Given the description of an element on the screen output the (x, y) to click on. 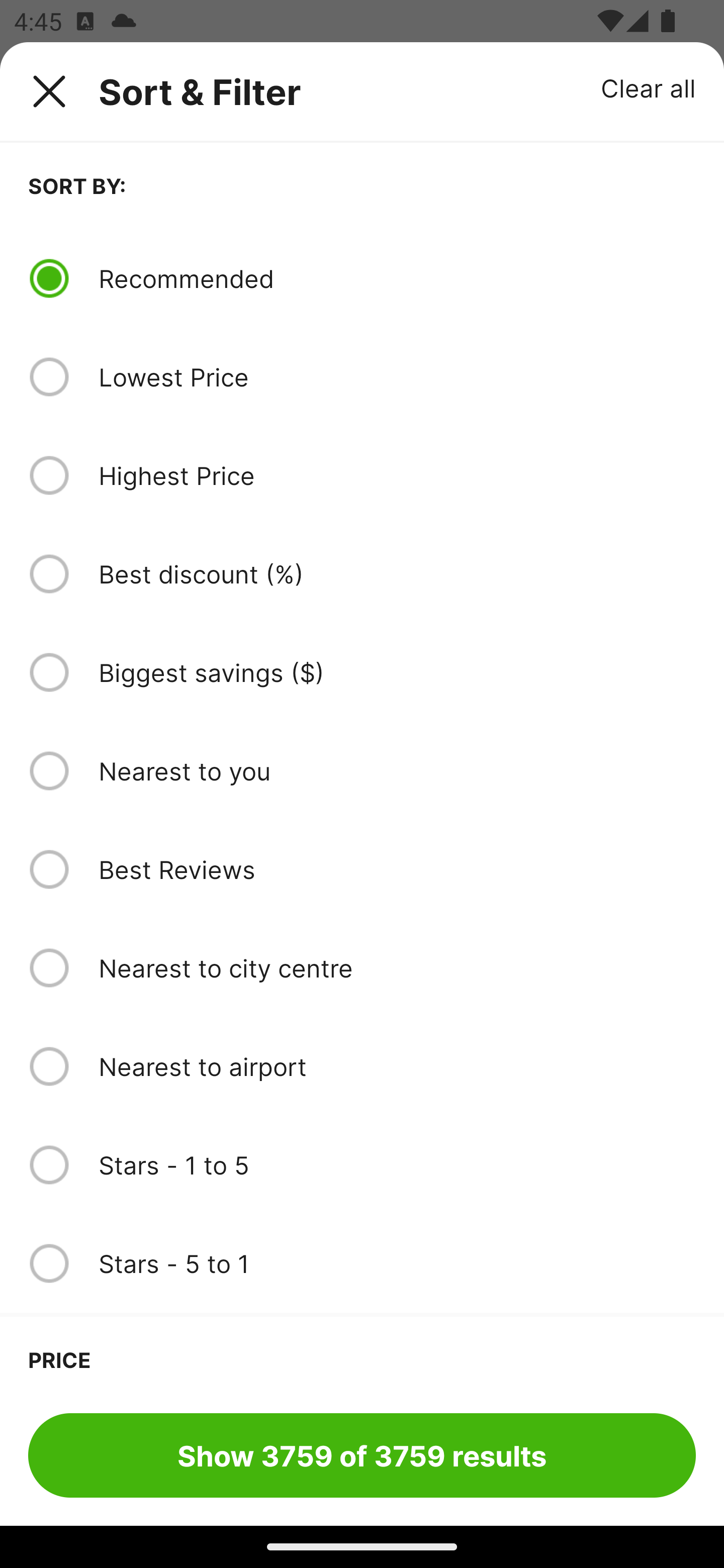
Clear all (648, 87)
Recommended  (396, 278)
Lowest Price (396, 377)
Highest Price (396, 474)
Best discount (%) (396, 573)
Biggest savings ($) (396, 672)
Nearest to you (396, 770)
Best Reviews (396, 869)
Nearest to city centre (396, 968)
Nearest to airport (396, 1065)
Stars - 1 to 5 (396, 1164)
Stars - 5 to 1 (396, 1263)
Show 3759 of 3759 results (361, 1454)
